Given the description of an element on the screen output the (x, y) to click on. 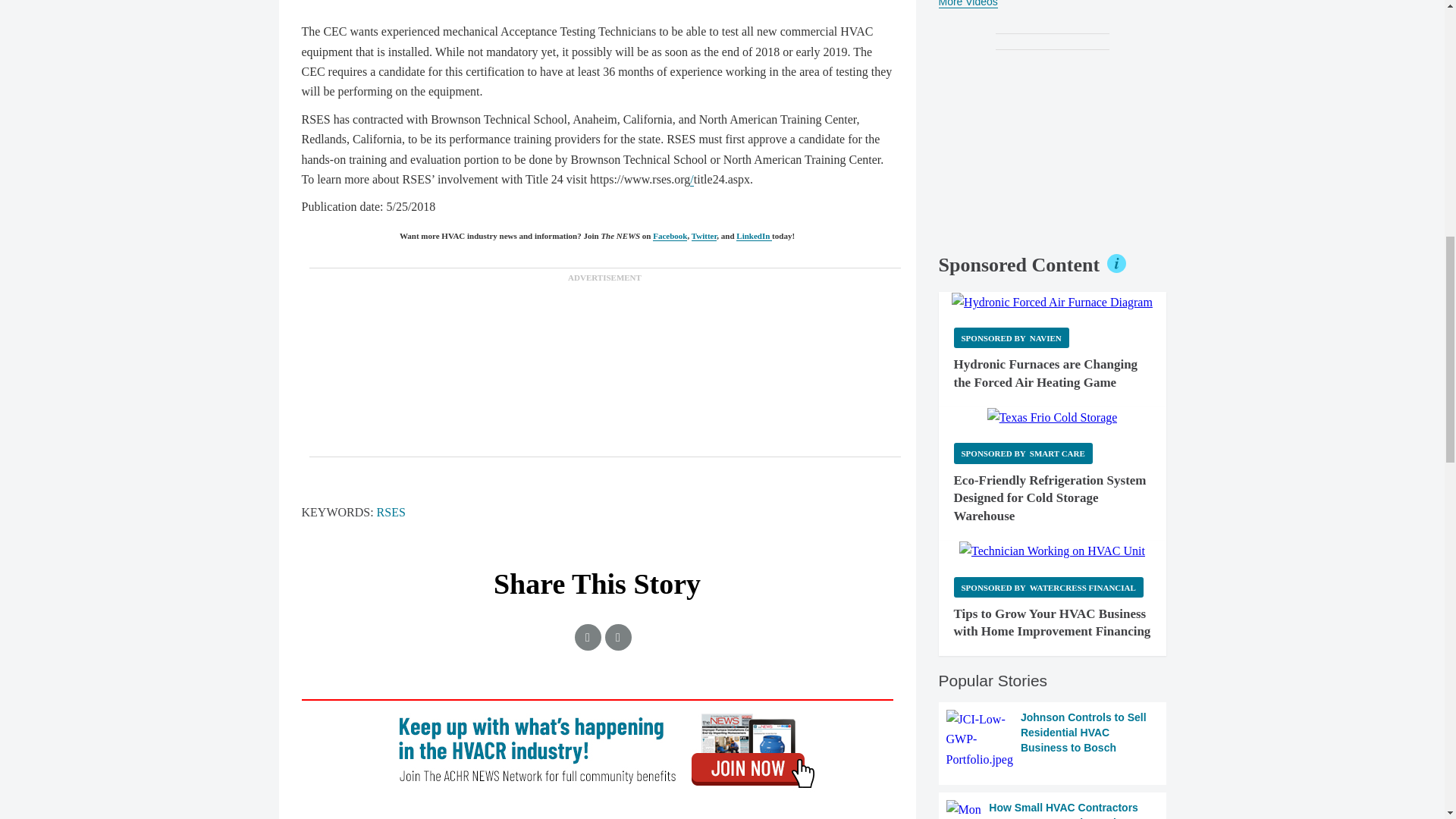
Sponsored by Smart Care (1023, 453)
Johnson Controls to Sell Residential HVAC Business to Bosch (1052, 739)
Sponsored by Watercress Financial (1047, 586)
Sponsored by Navien (1010, 337)
Technician Working on HVAC Unit (1051, 551)
Hydronic Forced Air Furnace Diagram (1052, 302)
Texas Frio Cold Storage (1052, 417)
